Given the description of an element on the screen output the (x, y) to click on. 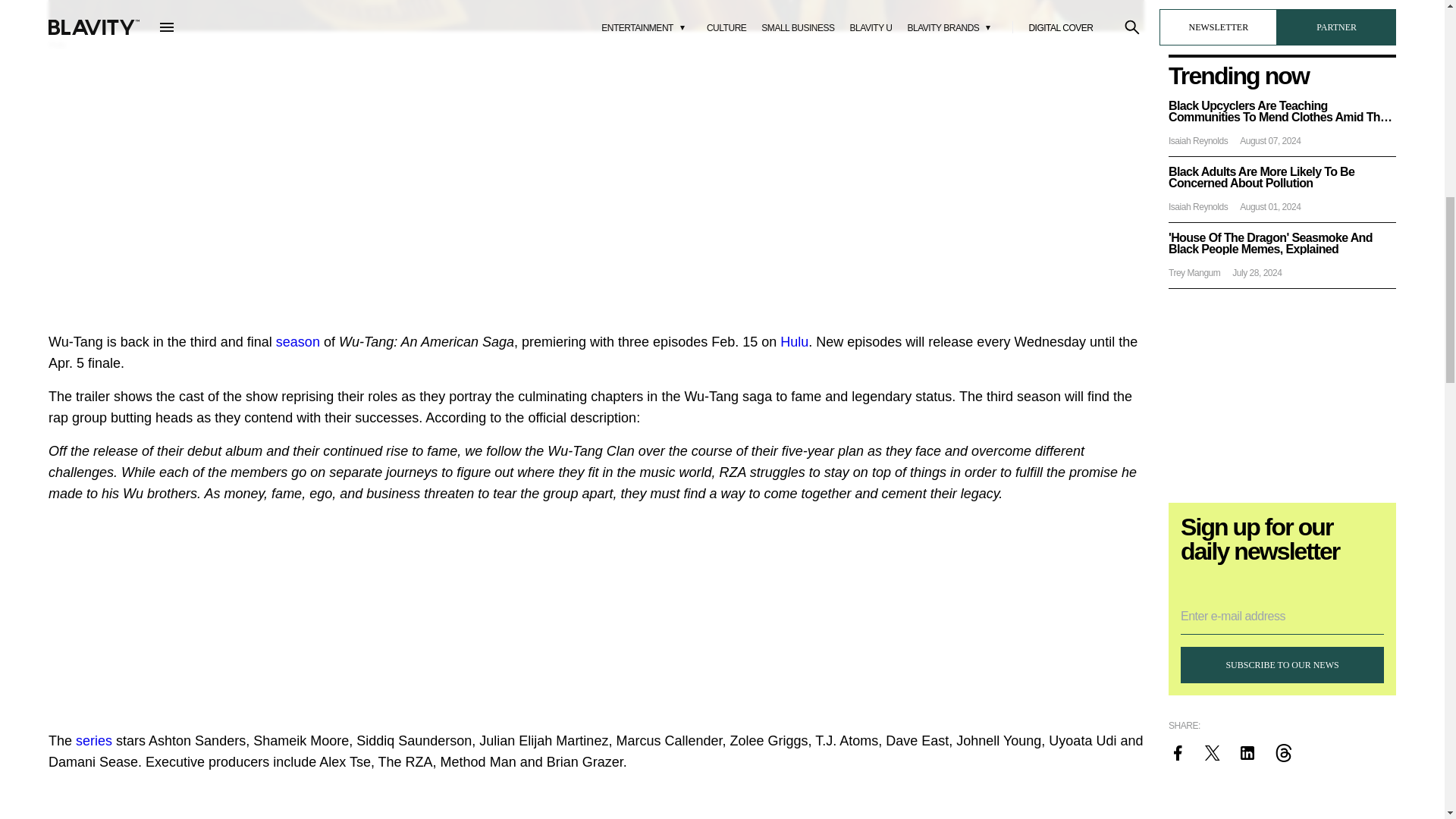
3rd party ad content (596, 187)
YouTube video player (596, 801)
